Given the description of an element on the screen output the (x, y) to click on. 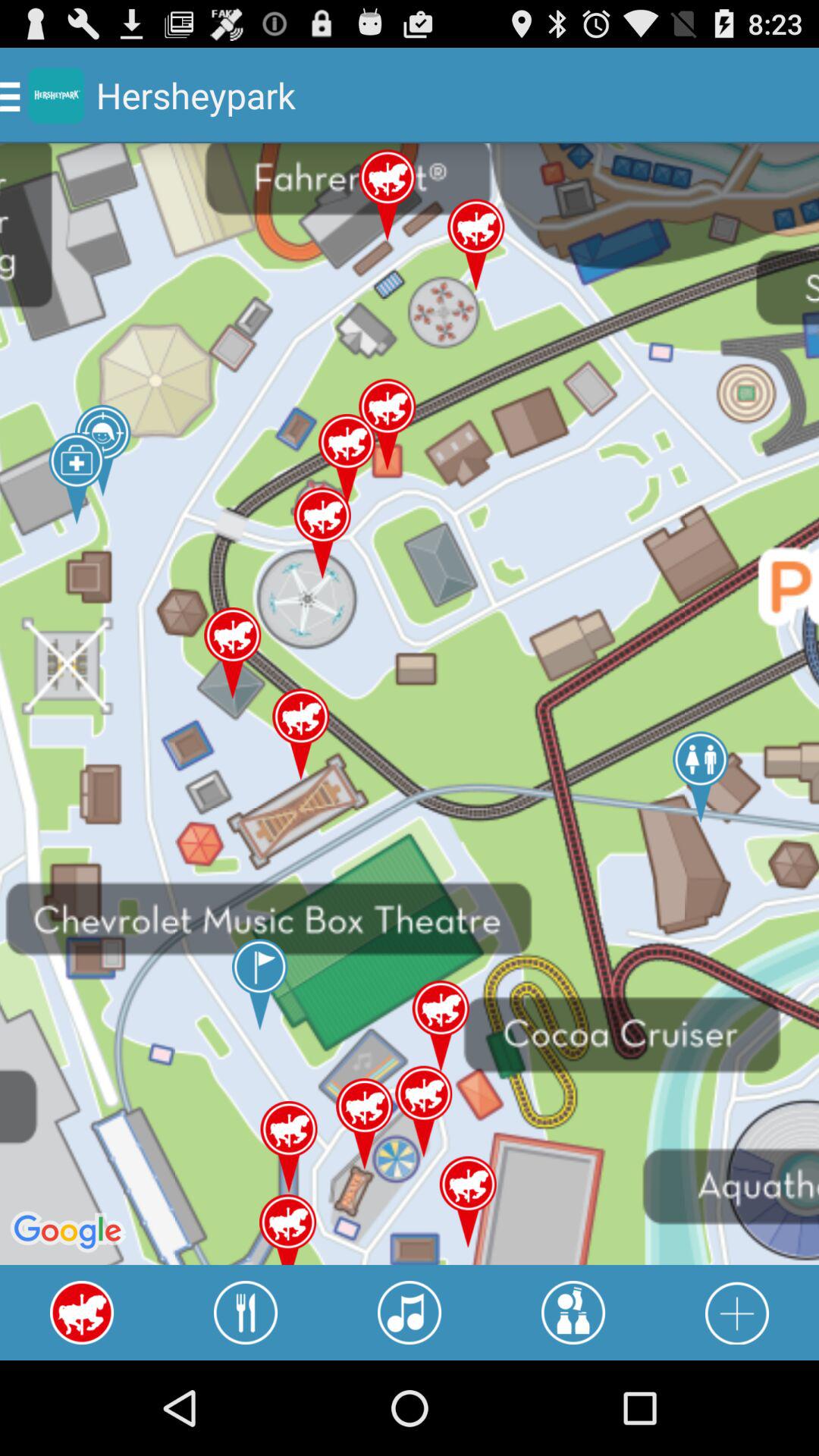
add location (737, 1312)
